Given the description of an element on the screen output the (x, y) to click on. 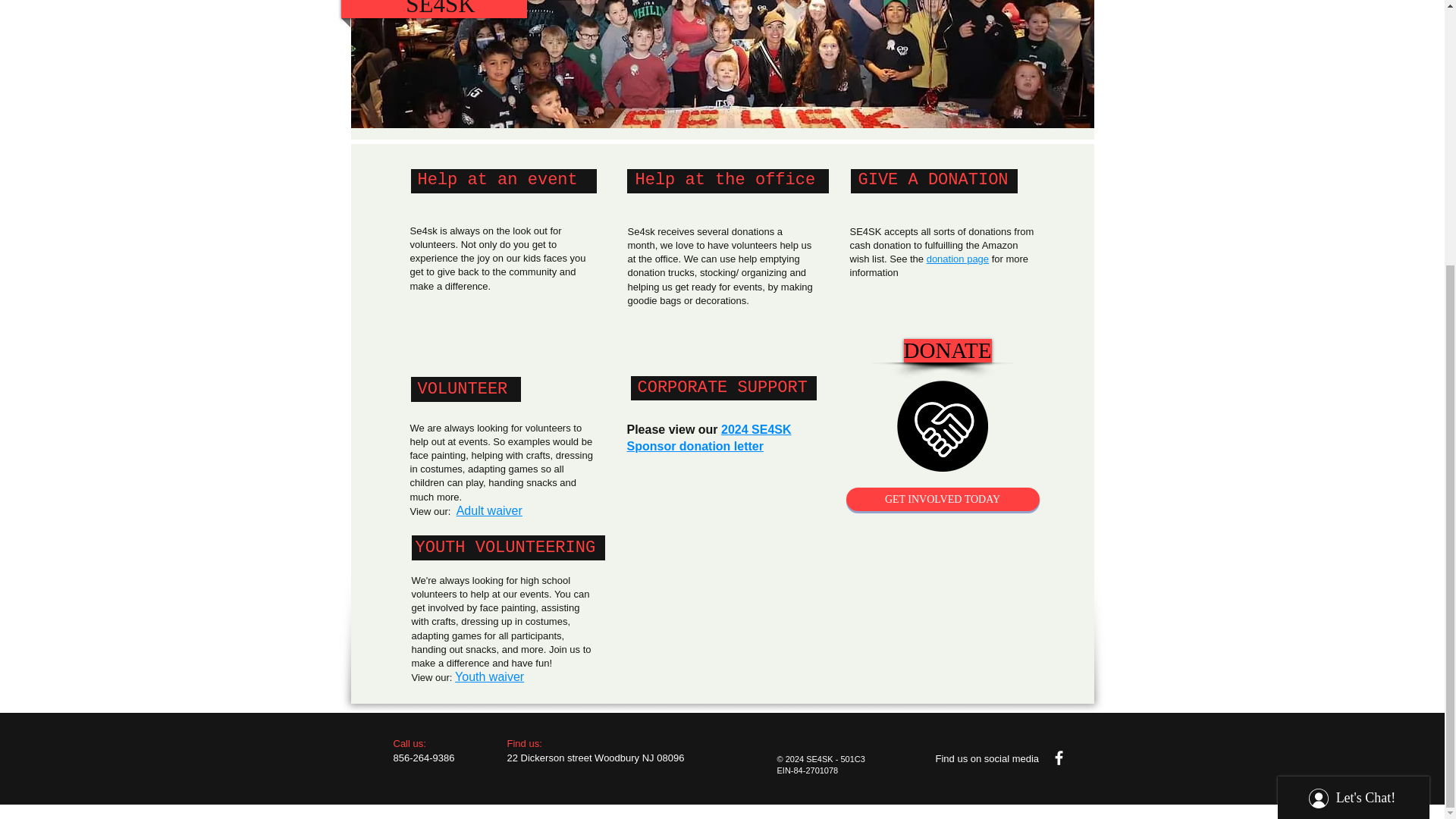
GET INVOLVED TODAY (942, 499)
DONATE (947, 350)
Youth waiver (489, 677)
2024 SE4SK Sponsor donation letter (708, 437)
Adult waiver (489, 510)
donation page (957, 258)
